Given the description of an element on the screen output the (x, y) to click on. 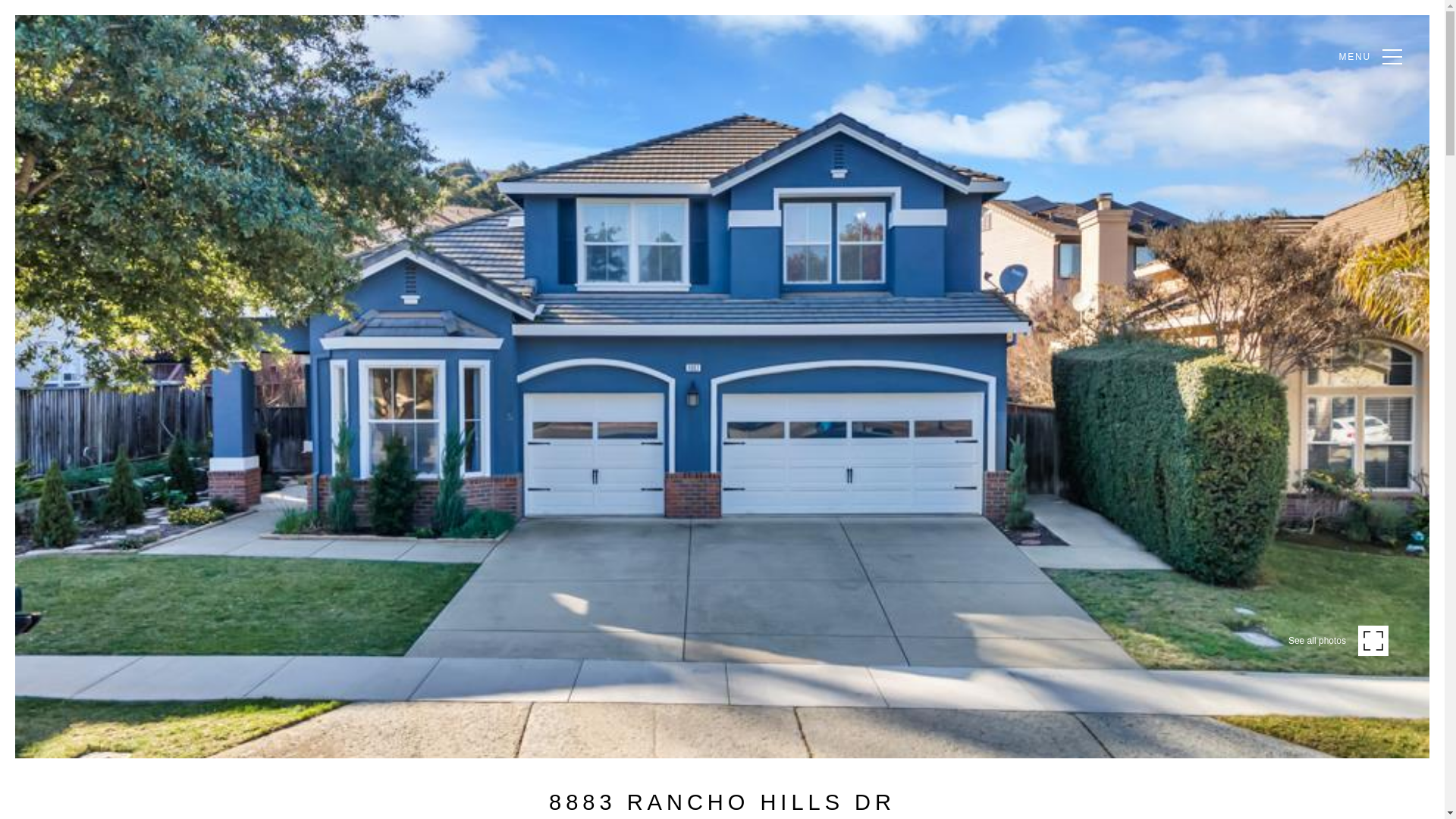
MENU (1369, 56)
See all photos (1338, 640)
